Given the description of an element on the screen output the (x, y) to click on. 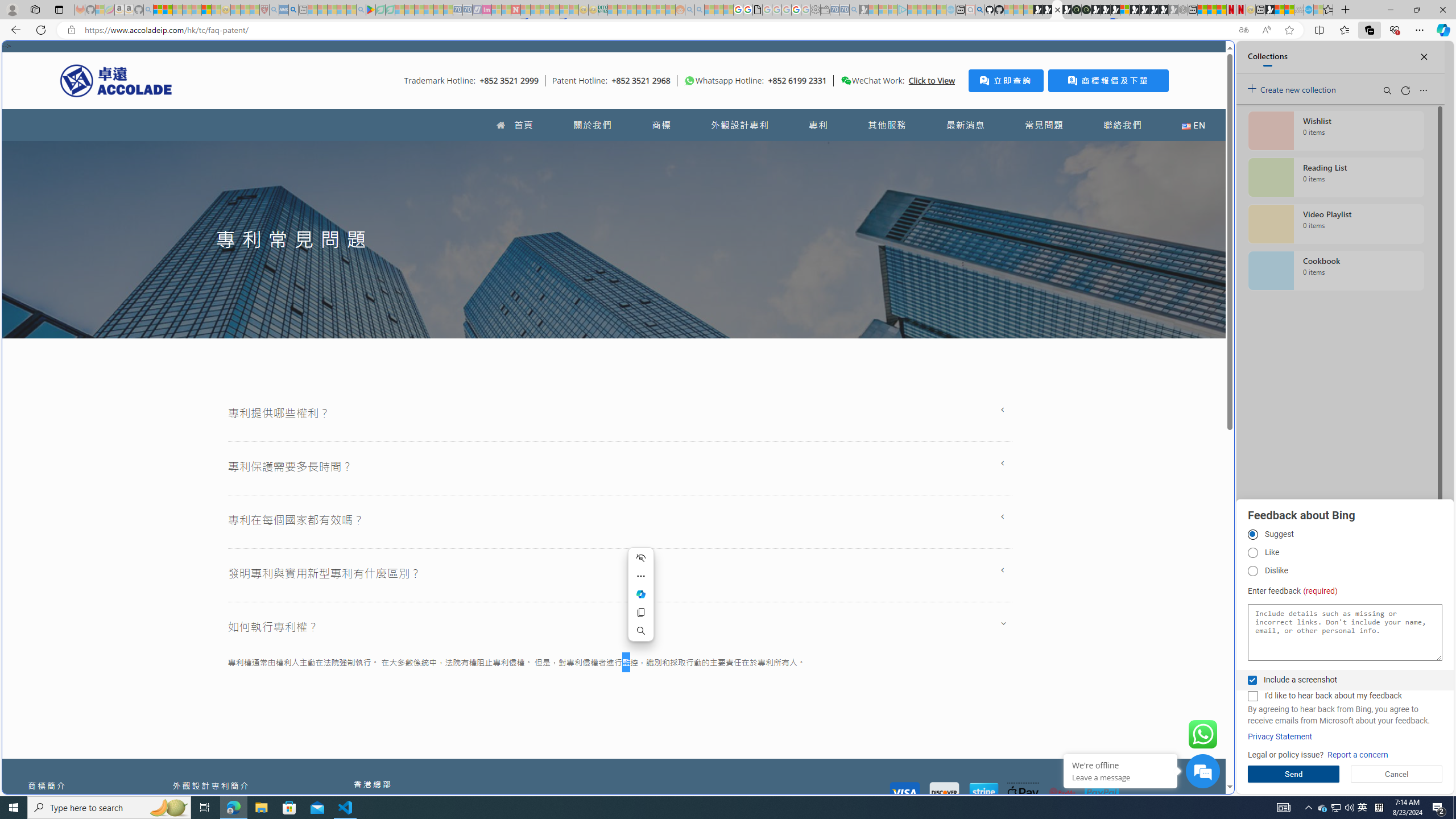
Play Free Online Games | Games from Microsoft Start (1144, 9)
Recipes - MSN - Sleeping (234, 9)
NCL Adult Asthma Inhaler Choice Guideline - Sleeping (283, 9)
Send (1293, 773)
Earth has six continents not seven, radical new study claims (1288, 9)
Class: desktop (845, 80)
